Given the description of an element on the screen output the (x, y) to click on. 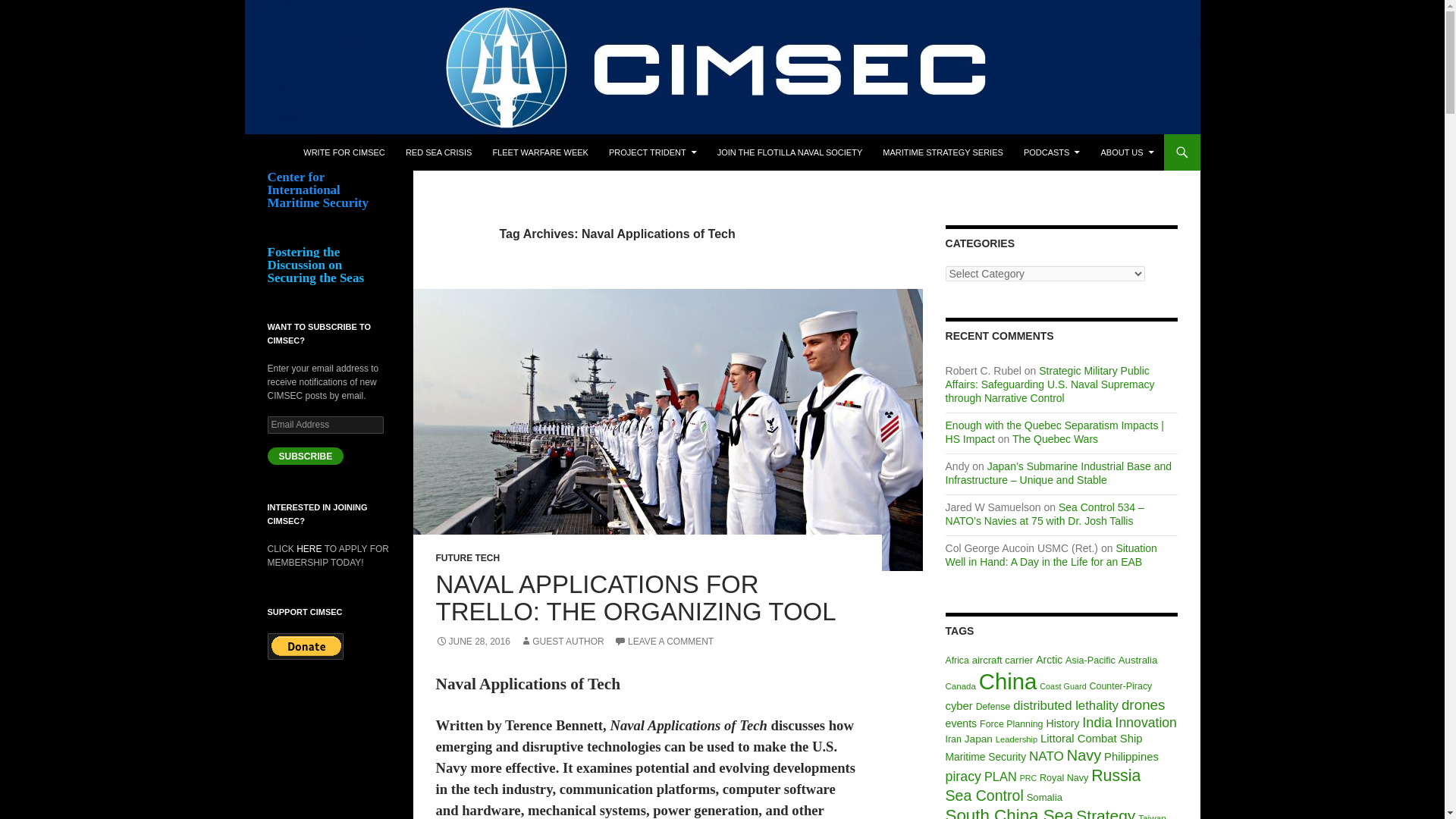
ABOUT US (1125, 152)
PROJECT TRIDENT (652, 152)
Center for International Maritime Security (400, 152)
GUEST AUTHOR (561, 641)
WRITE FOR CIMSEC (344, 152)
NAVAL APPLICATIONS FOR TRELLO: THE ORGANIZING TOOL (635, 597)
PODCASTS (1051, 152)
FLEET WARFARE WEEK (539, 152)
JUNE 28, 2016 (472, 641)
JOIN THE FLOTILLA NAVAL SOCIETY (789, 152)
FUTURE TECH (467, 557)
MARITIME STRATEGY SERIES (942, 152)
RED SEA CRISIS (438, 152)
